Given the description of an element on the screen output the (x, y) to click on. 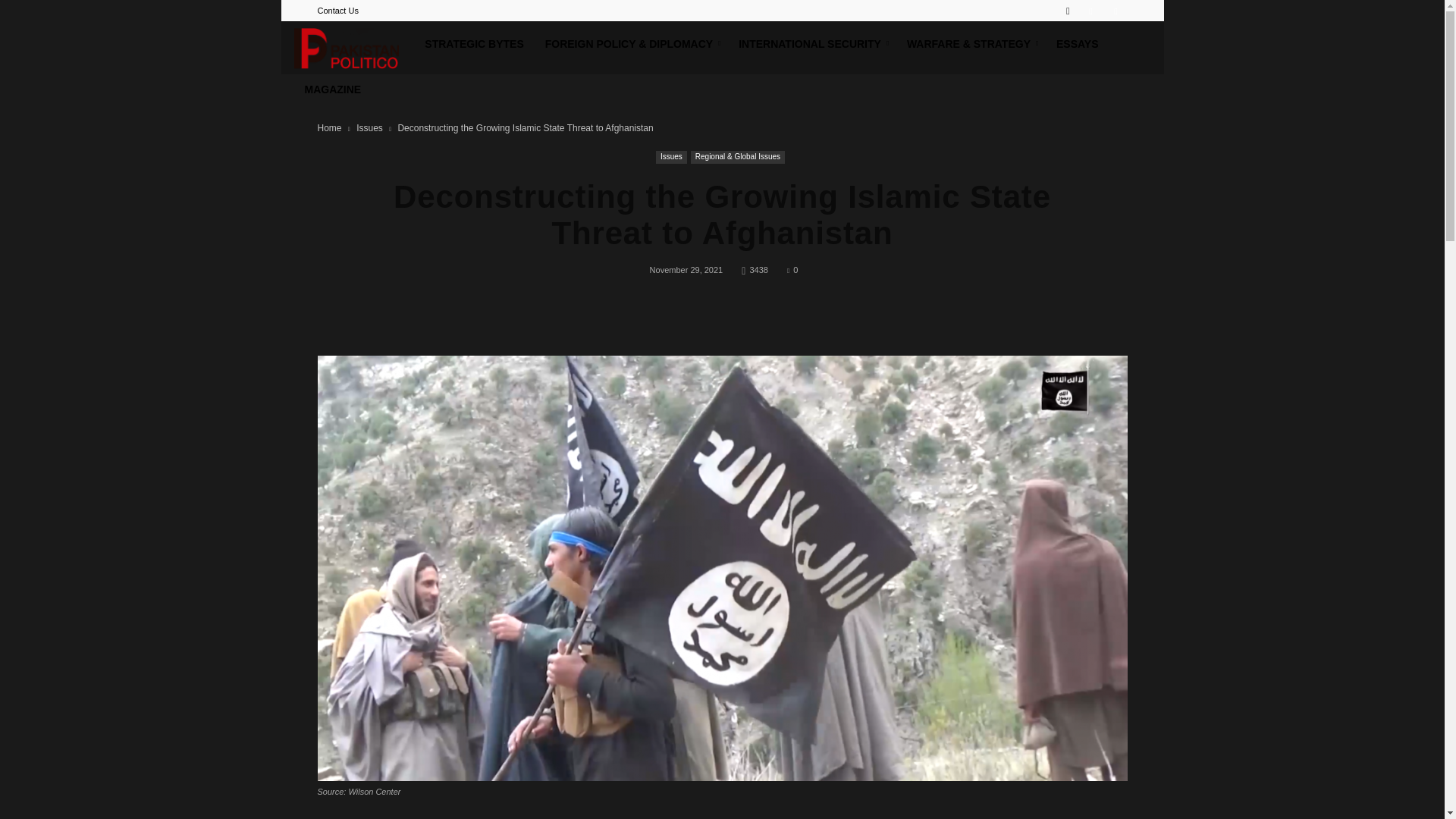
Twitter (1114, 10)
Pakistanpolitico (354, 47)
STRATEGIC BYTES (473, 43)
Search (1085, 64)
Facebook (1090, 10)
Contact Us (337, 10)
INTERNATIONAL SECURITY (812, 43)
